Given the description of an element on the screen output the (x, y) to click on. 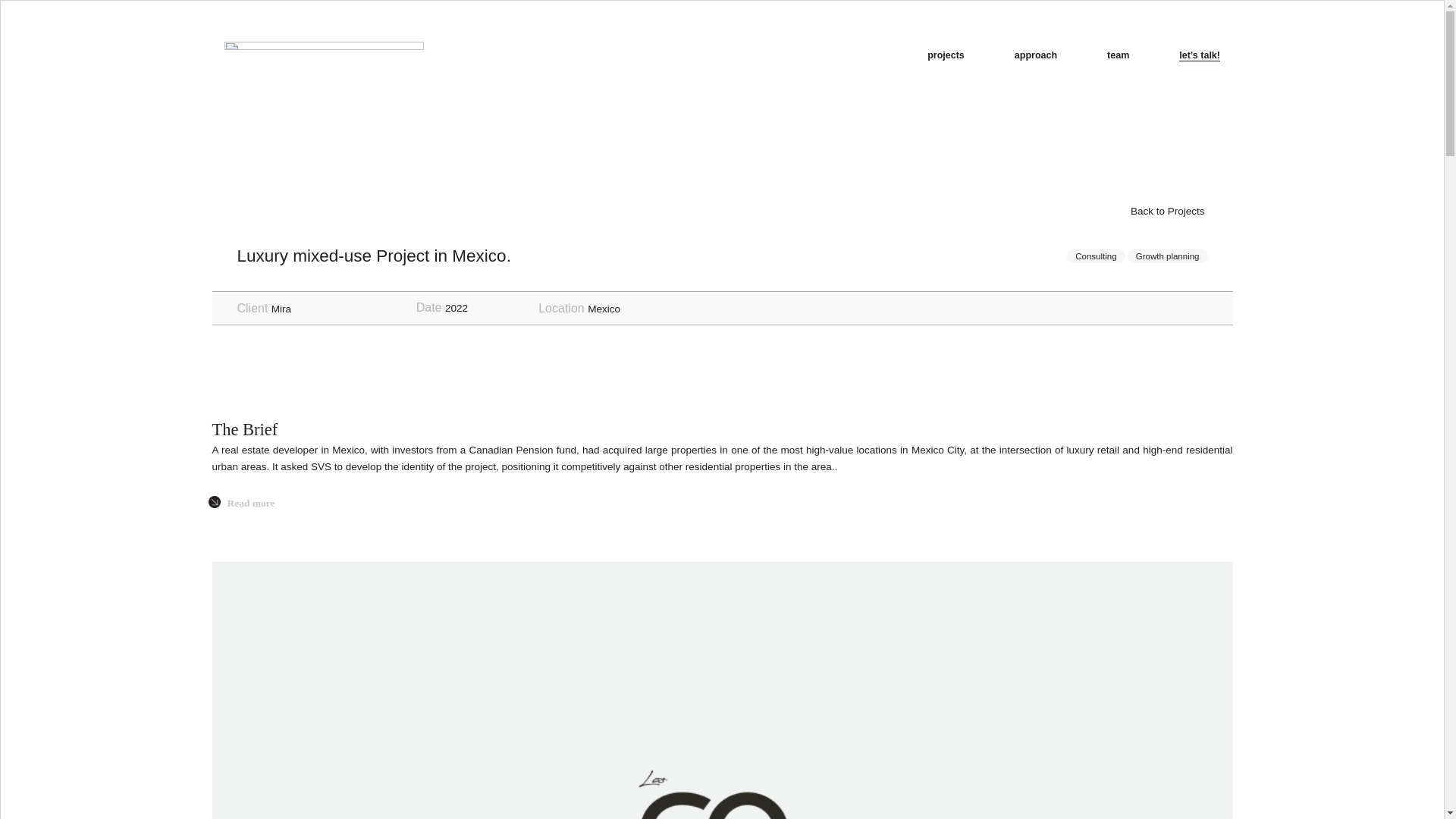
Read more (251, 503)
team (1117, 55)
 Back to Projects (1159, 210)
Growth planning (1167, 255)
projects (946, 55)
approach (1035, 55)
Consulting (1095, 255)
